Given the description of an element on the screen output the (x, y) to click on. 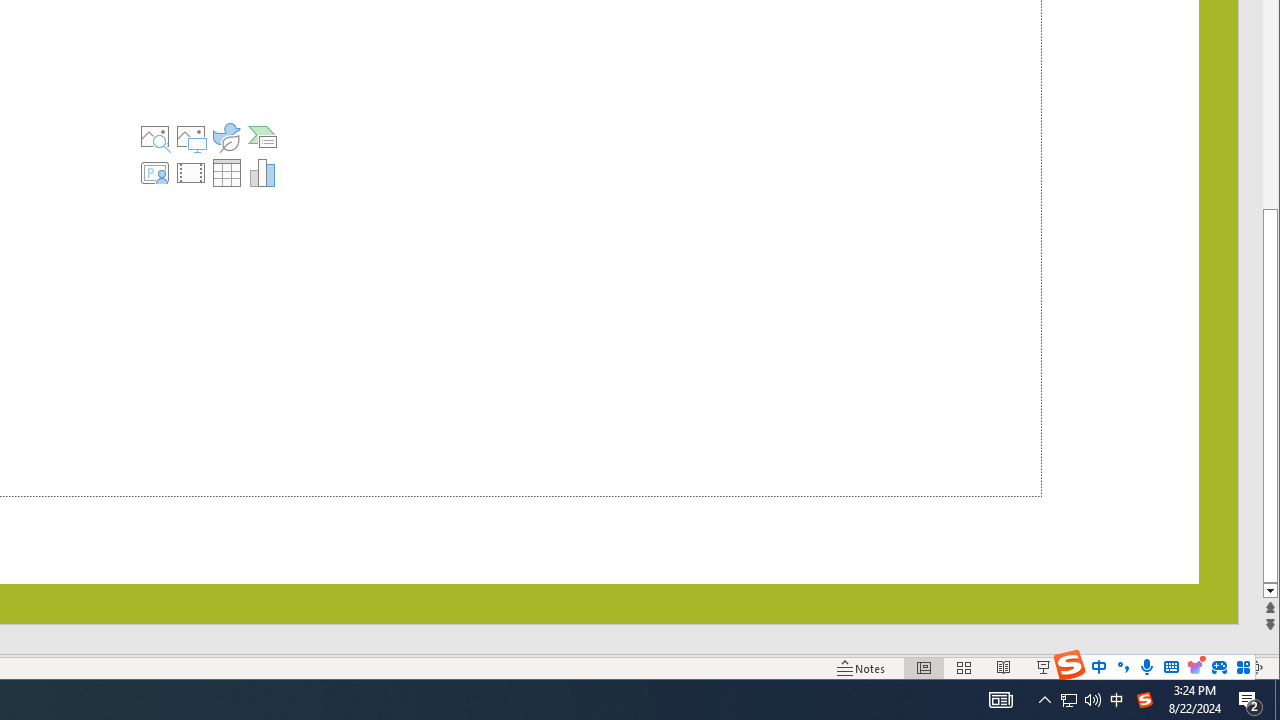
Zoom 161% (1222, 668)
